Given the description of an element on the screen output the (x, y) to click on. 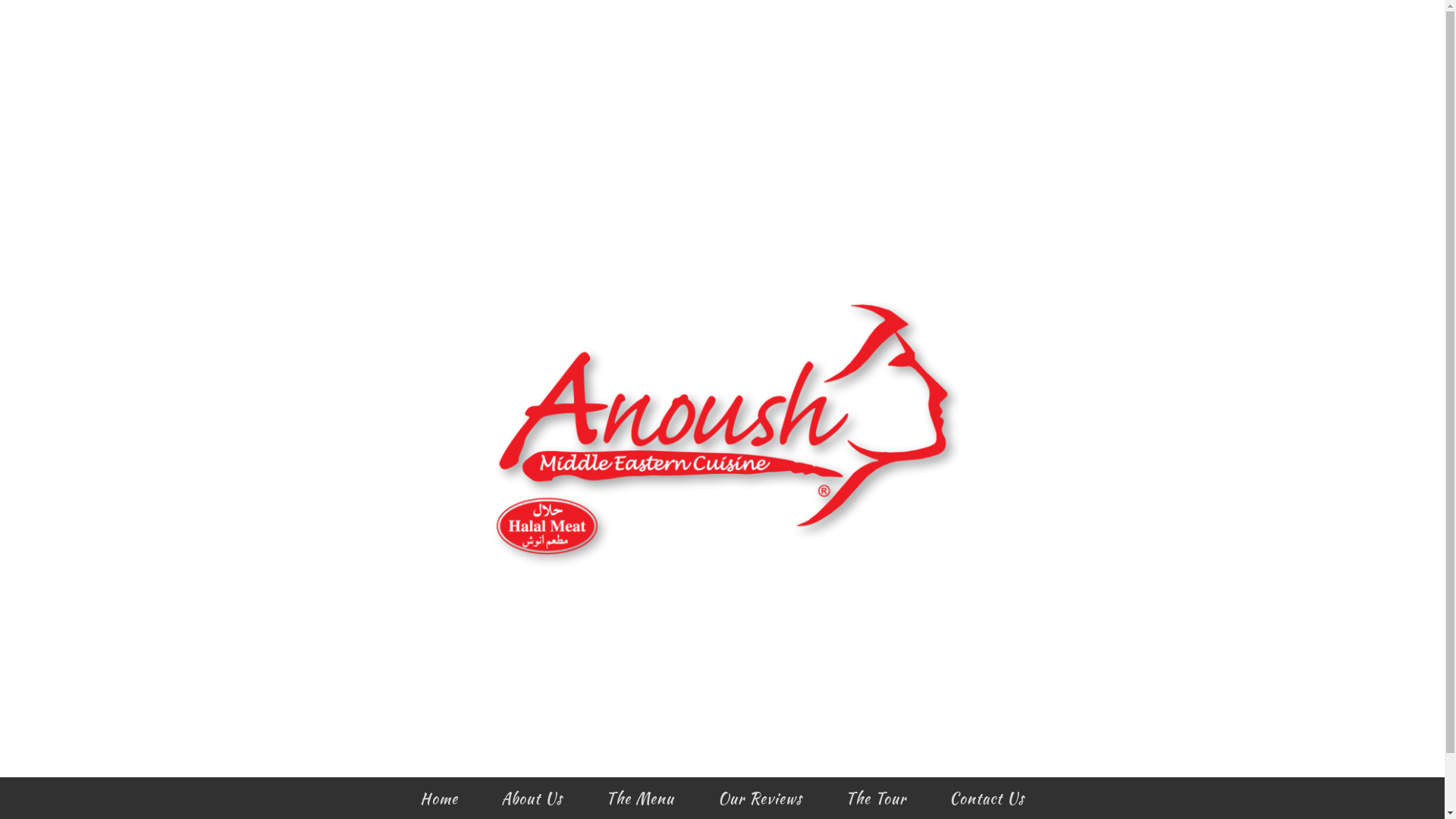
The Tour Element type: text (875, 800)
Our Reviews Element type: text (760, 800)
Contact Us Element type: text (986, 800)
About Us Element type: text (531, 800)
A Element type: text (721, 705)
The Menu Element type: text (639, 800)
Home Element type: text (439, 800)
